Given the description of an element on the screen output the (x, y) to click on. 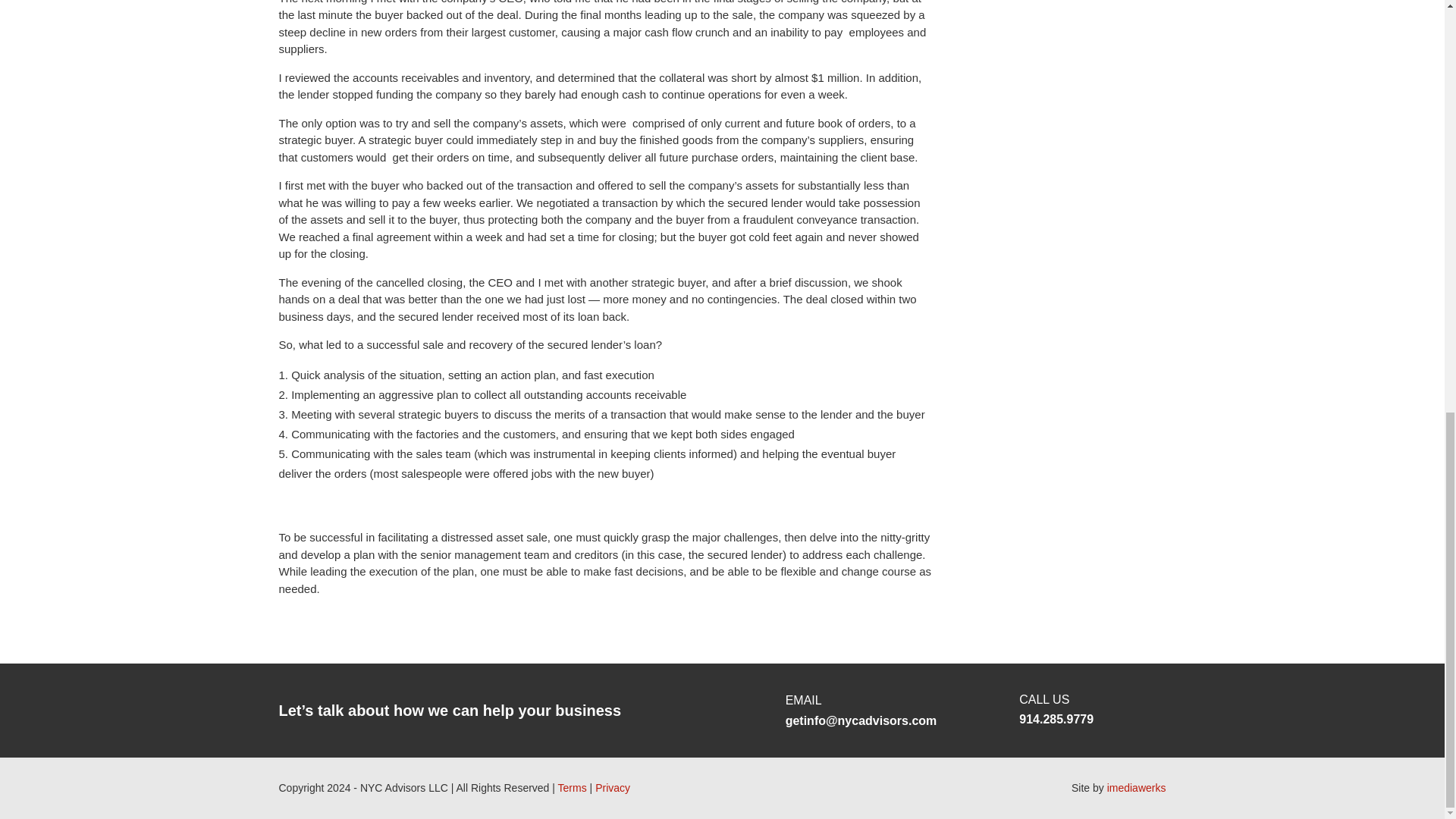
Terms (571, 787)
Privacy (612, 787)
imediawerks (1136, 787)
